Given the description of an element on the screen output the (x, y) to click on. 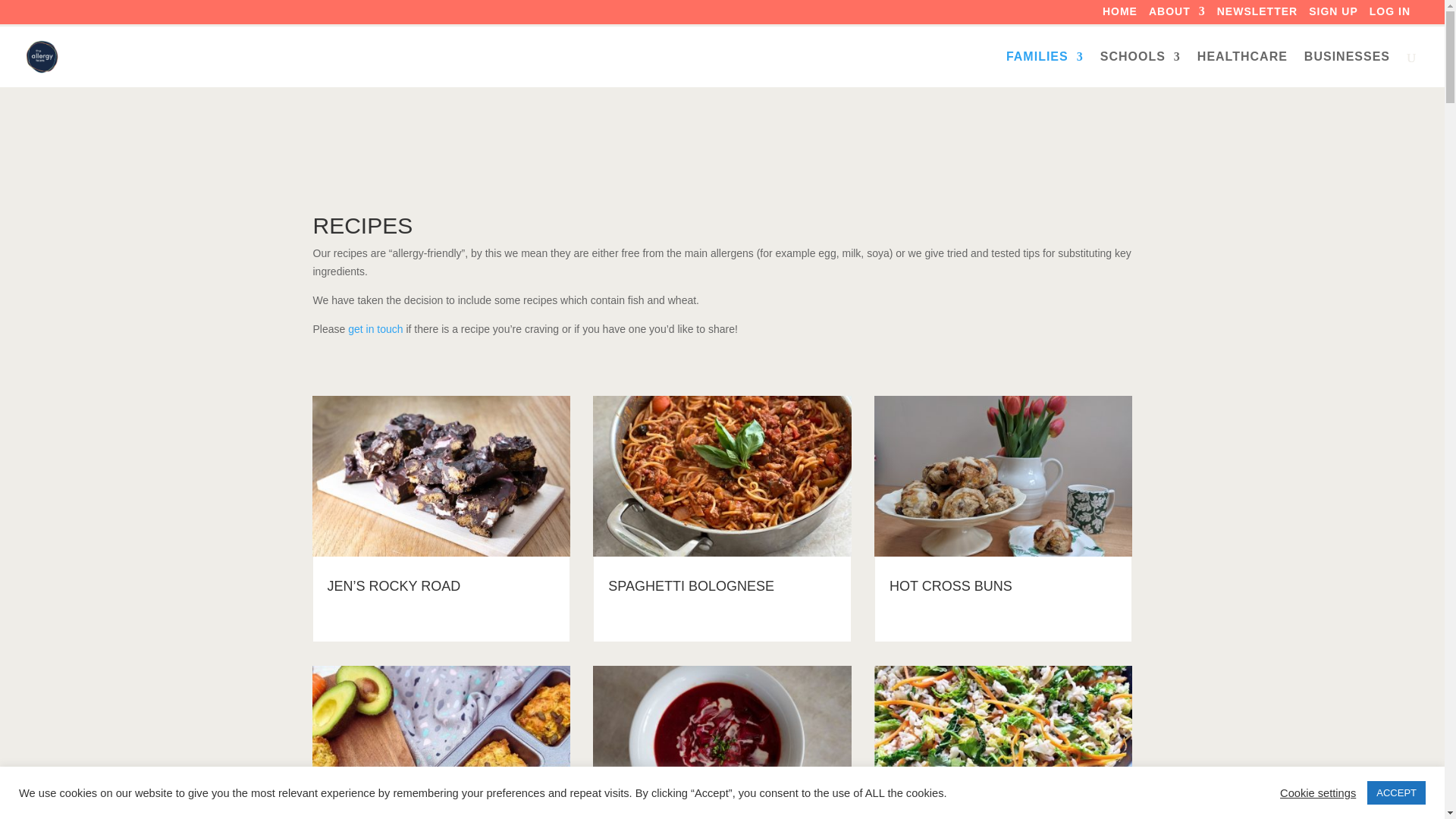
NEWSLETTER (1257, 15)
SCHOOLS (1140, 68)
ABOUT (1176, 15)
LOG IN (1390, 15)
SIGN UP (1333, 15)
BUSINESSES (1347, 68)
FAMILIES (1044, 68)
HOME (1119, 15)
HEALTHCARE (1241, 68)
